Given the description of an element on the screen output the (x, y) to click on. 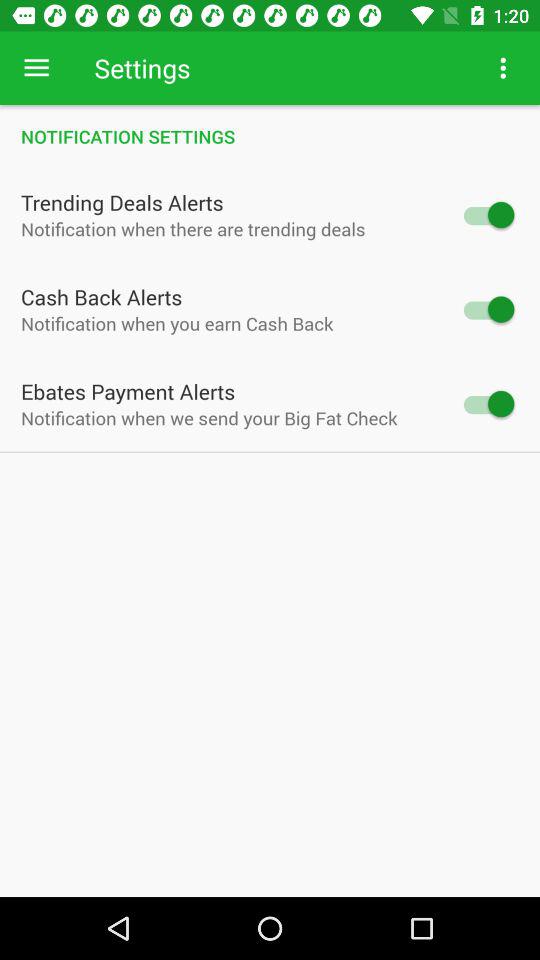
flip until notification settings (270, 136)
